Given the description of an element on the screen output the (x, y) to click on. 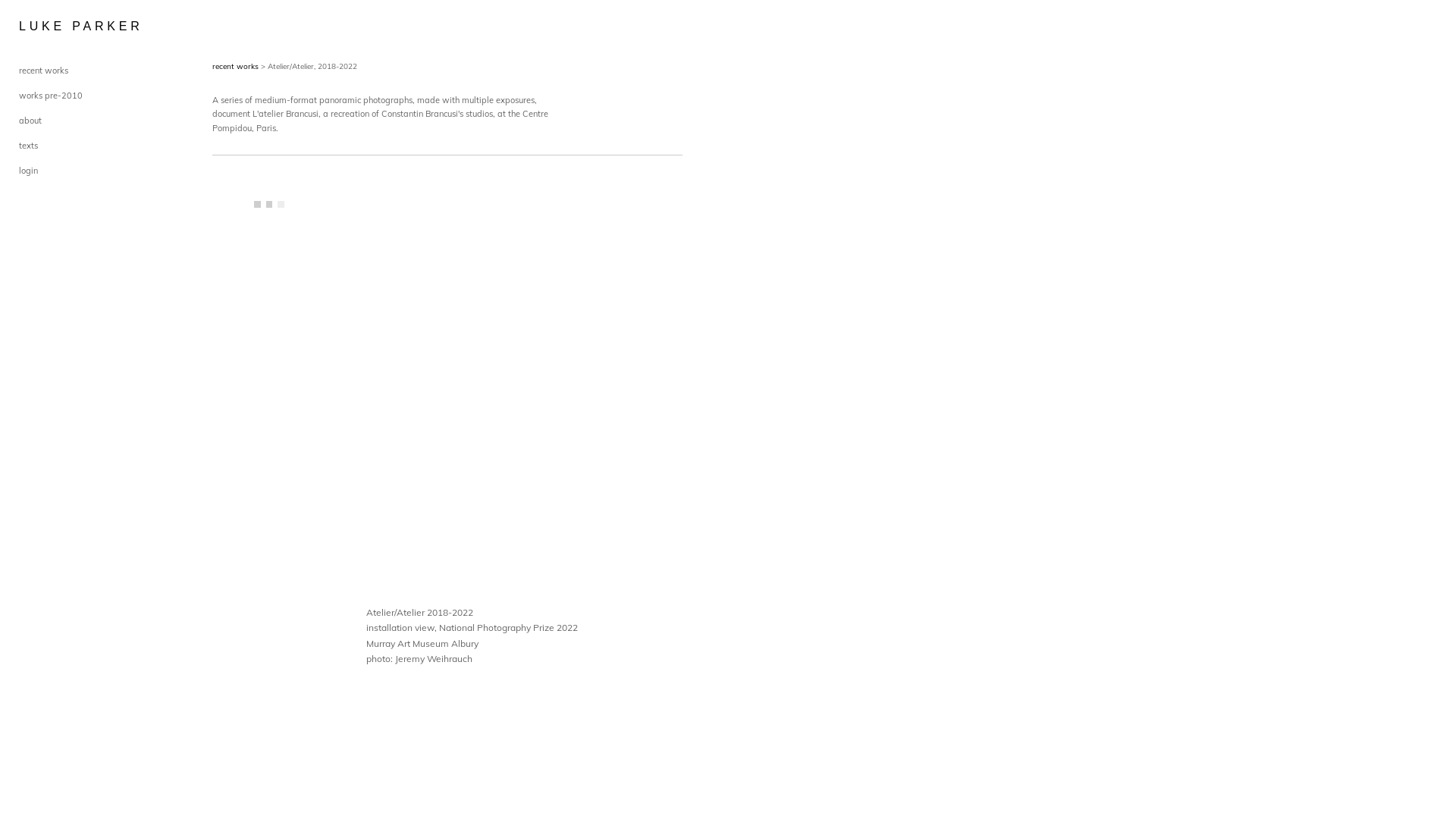
login Element type: text (27, 170)
LUKE PARKER Element type: text (56, 26)
recent works Element type: text (235, 66)
texts Element type: text (27, 145)
about Element type: text (29, 120)
